Given the description of an element on the screen output the (x, y) to click on. 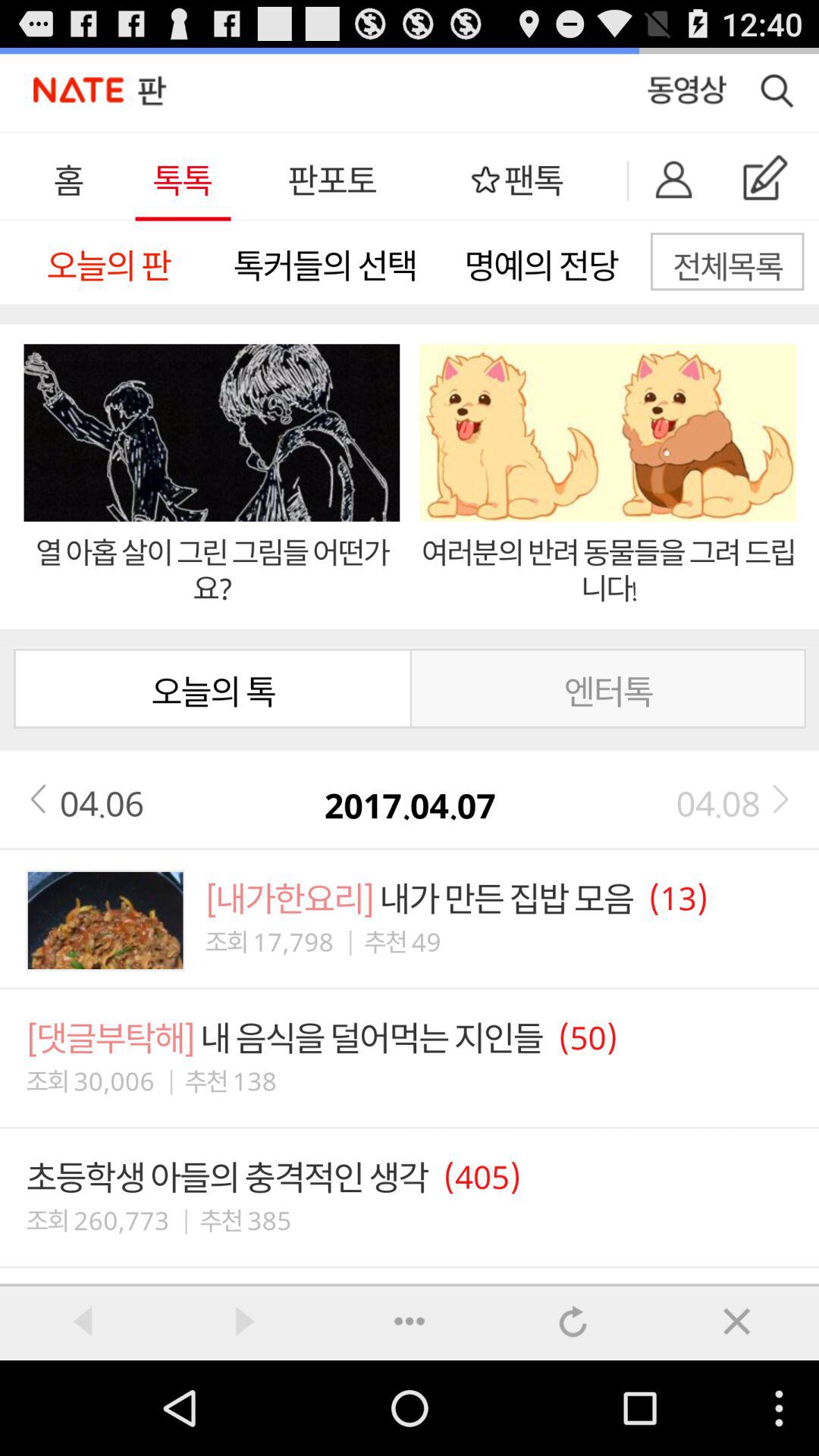
undo change (573, 1320)
